Given the description of an element on the screen output the (x, y) to click on. 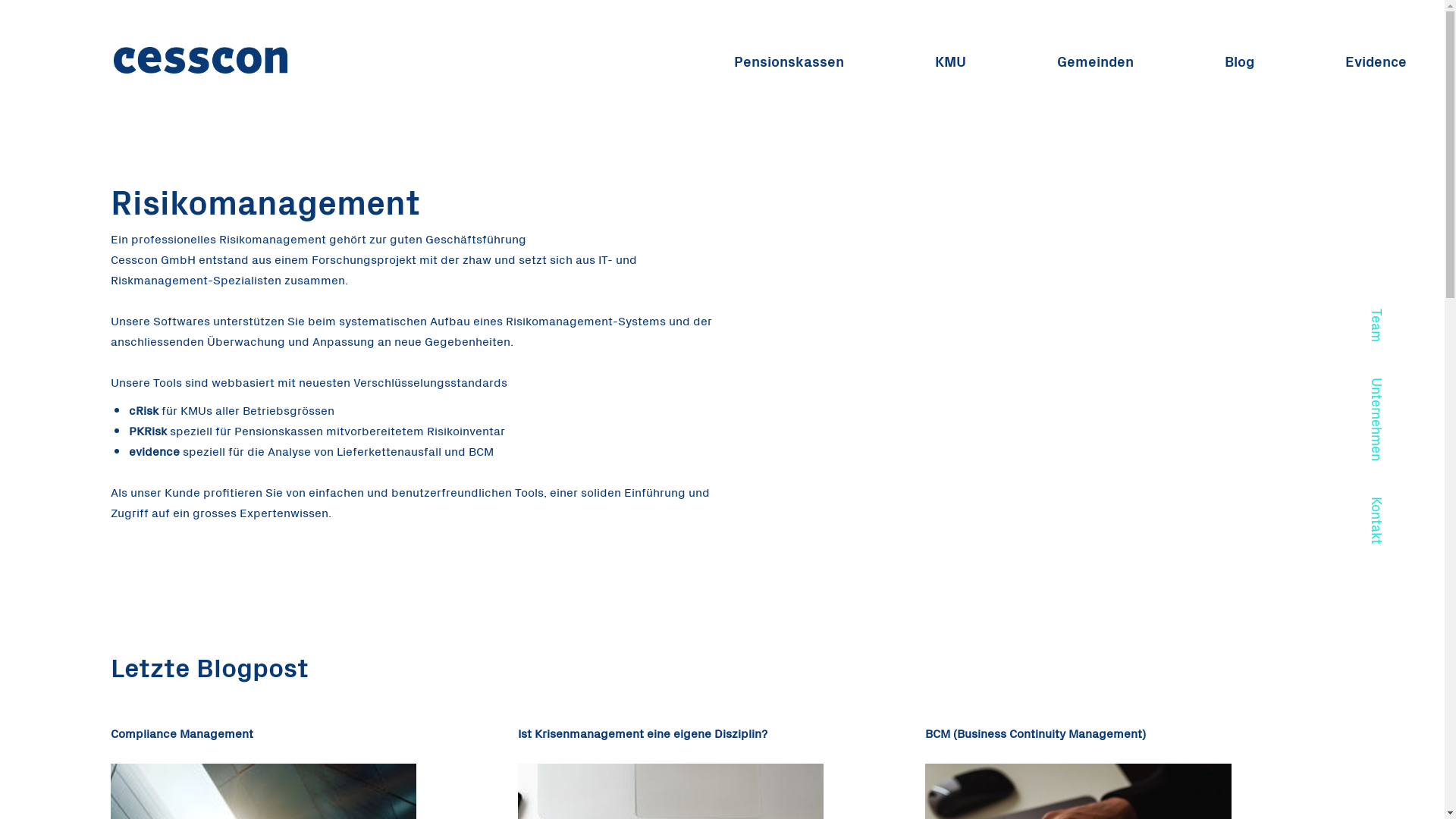
Gemeinden Element type: text (1095, 60)
Evidence Element type: text (1375, 60)
Pensionskassen Element type: text (789, 60)
Unternehmen Element type: text (1377, 436)
Kontakt Element type: text (1377, 538)
KMU Element type: text (950, 60)
Blog Element type: text (1239, 60)
Team Element type: text (1377, 342)
